Given the description of an element on the screen output the (x, y) to click on. 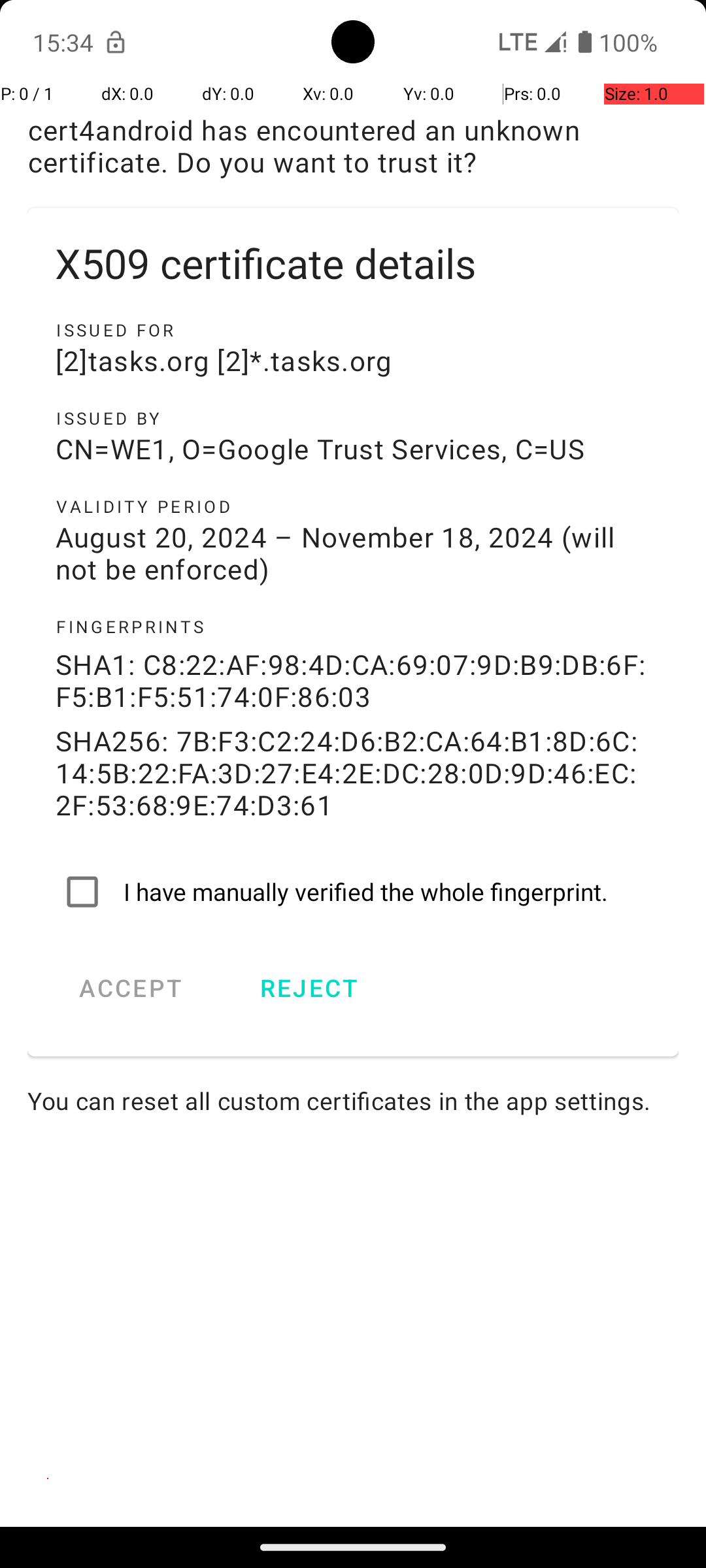
cert4android has encountered an unknown certificate. Do you want to trust it? Element type: android.widget.TextView (352, 145)
X509 certificate details Element type: android.widget.TextView (352, 262)
ISSUED FOR Element type: android.widget.TextView (352, 329)
[2]tasks.org [2]*.tasks.org  Element type: android.widget.TextView (352, 359)
ISSUED BY Element type: android.widget.TextView (352, 417)
CN=WE1, O=Google Trust Services, C=US Element type: android.widget.TextView (352, 448)
VALIDITY PERIOD Element type: android.widget.TextView (352, 506)
August 20, 2024 – November 18, 2024 (will not be enforced) Element type: android.widget.TextView (352, 552)
FINGERPRINTS Element type: android.widget.TextView (352, 626)
SHA1: C8:22:AF:98:4D:CA:69:07:9D:B9:DB:6F:F5:B1:F5:51:74:0F:86:03 Element type: android.widget.TextView (352, 679)
SHA256: 7B:F3:C2:24:D6:B2:CA:64:B1:8D:6C:14:5B:22:FA:3D:27:E4:2E:DC:28:0D:9D:46:EC:2F:53:68:9E:74:D3:61 Element type: android.widget.TextView (352, 772)
I have manually verified the whole fingerprint. Element type: android.widget.CheckBox (352, 891)
ACCEPT Element type: android.widget.Button (129, 987)
REJECT Element type: android.widget.Button (308, 987)
You can reset all custom certificates in the app settings. Element type: android.widget.TextView (352, 1100)
